Given the description of an element on the screen output the (x, y) to click on. 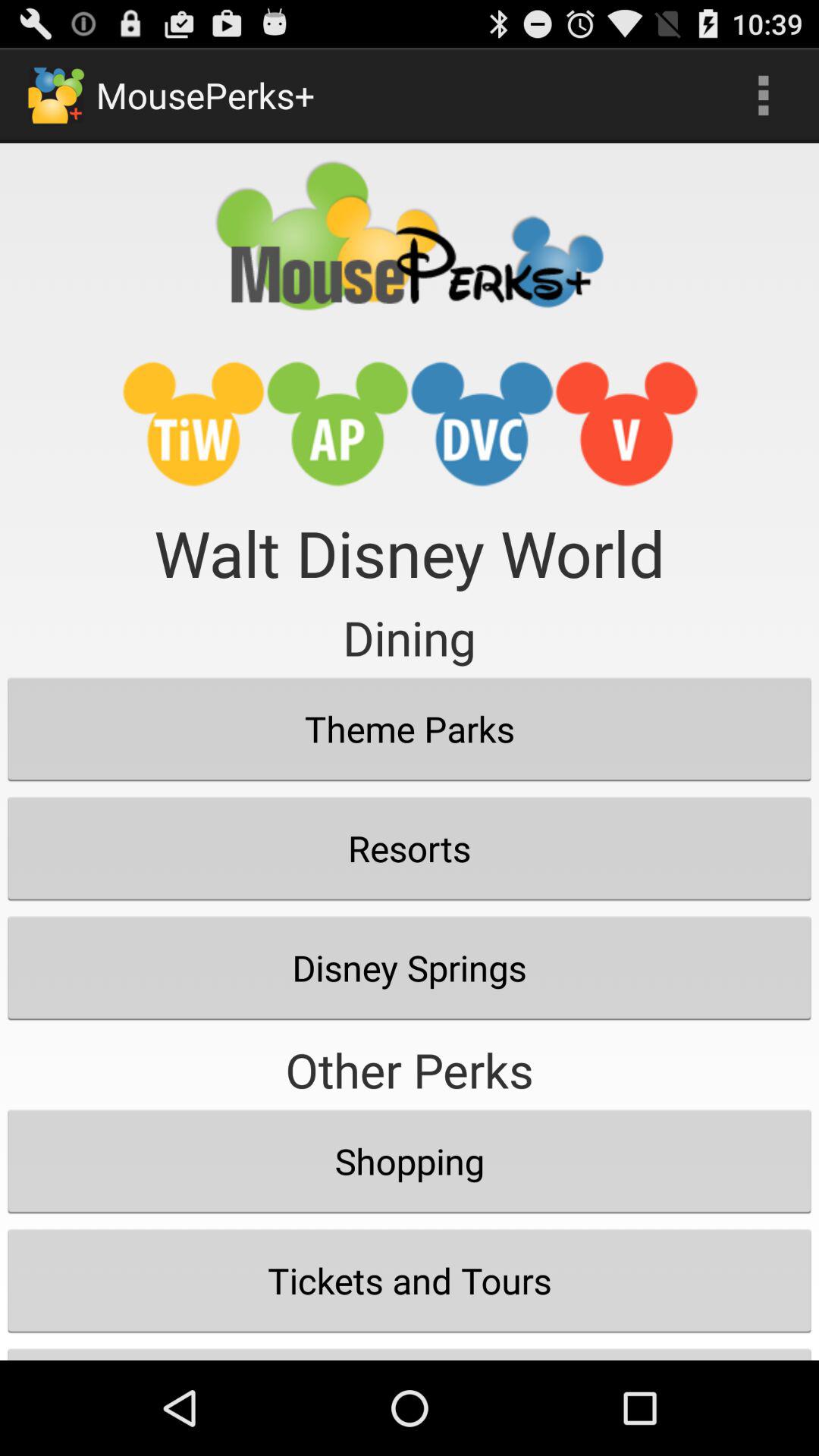
click the icon above tickets and tours button (409, 1161)
